Given the description of an element on the screen output the (x, y) to click on. 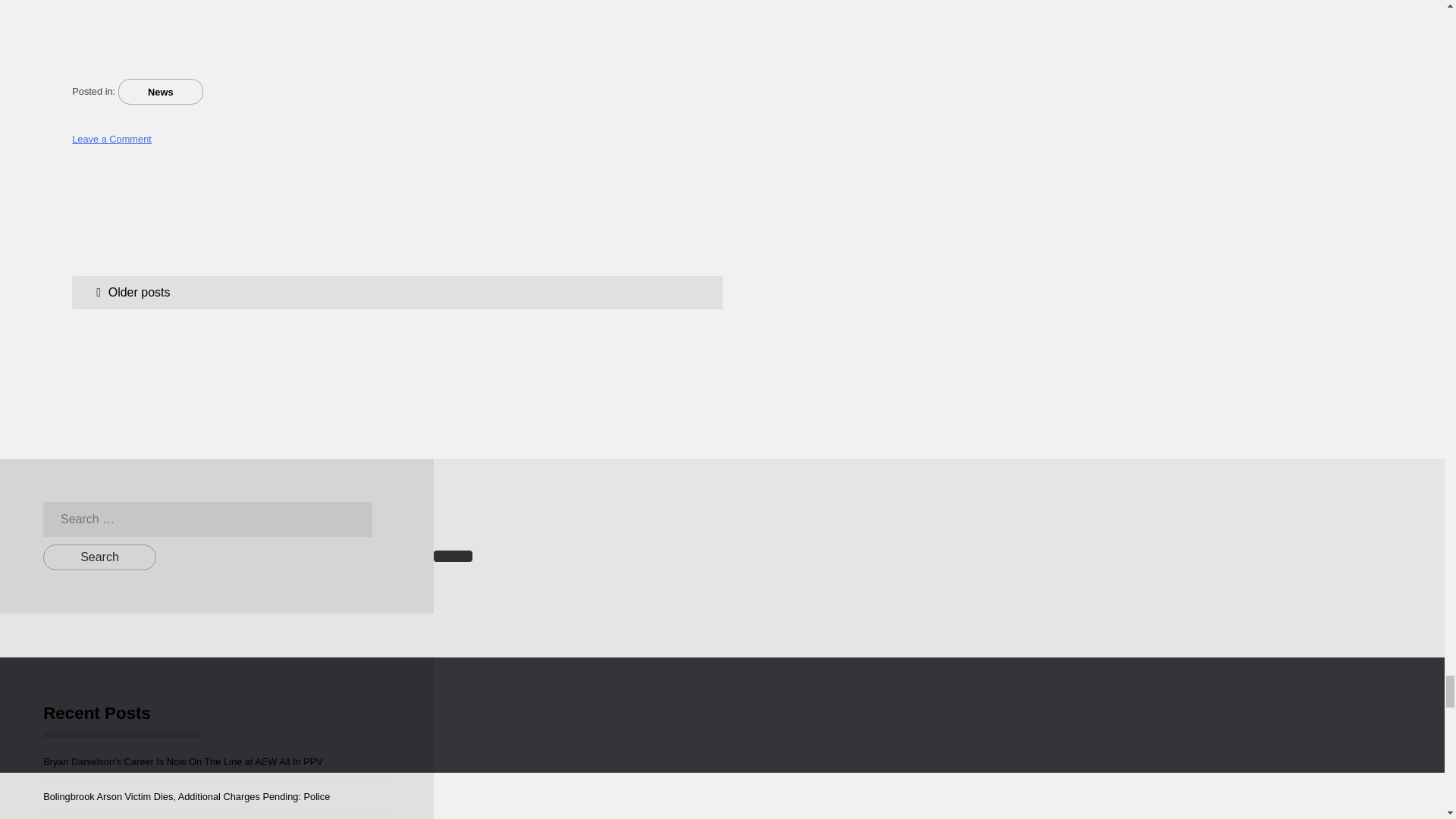
Search (99, 557)
Search (99, 557)
